Given the description of an element on the screen output the (x, y) to click on. 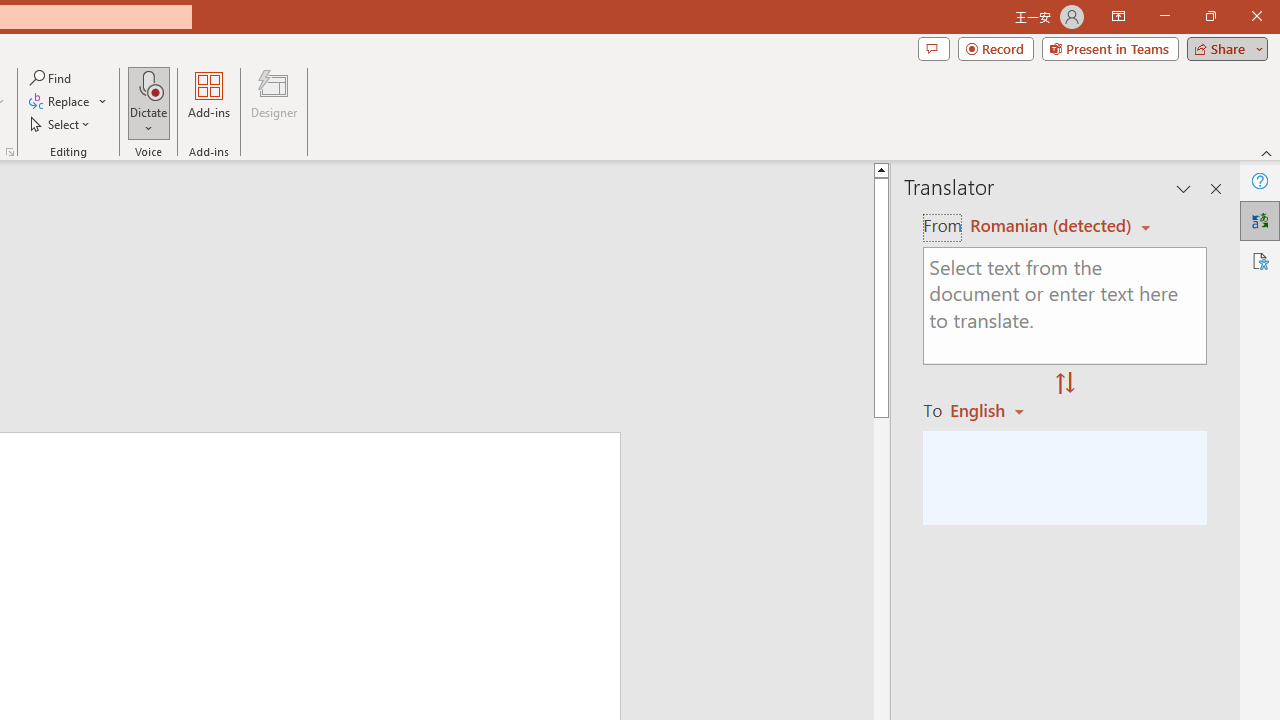
Swap "from" and "to" languages. (1065, 383)
Romanian (detected) (1047, 225)
